Given the description of an element on the screen output the (x, y) to click on. 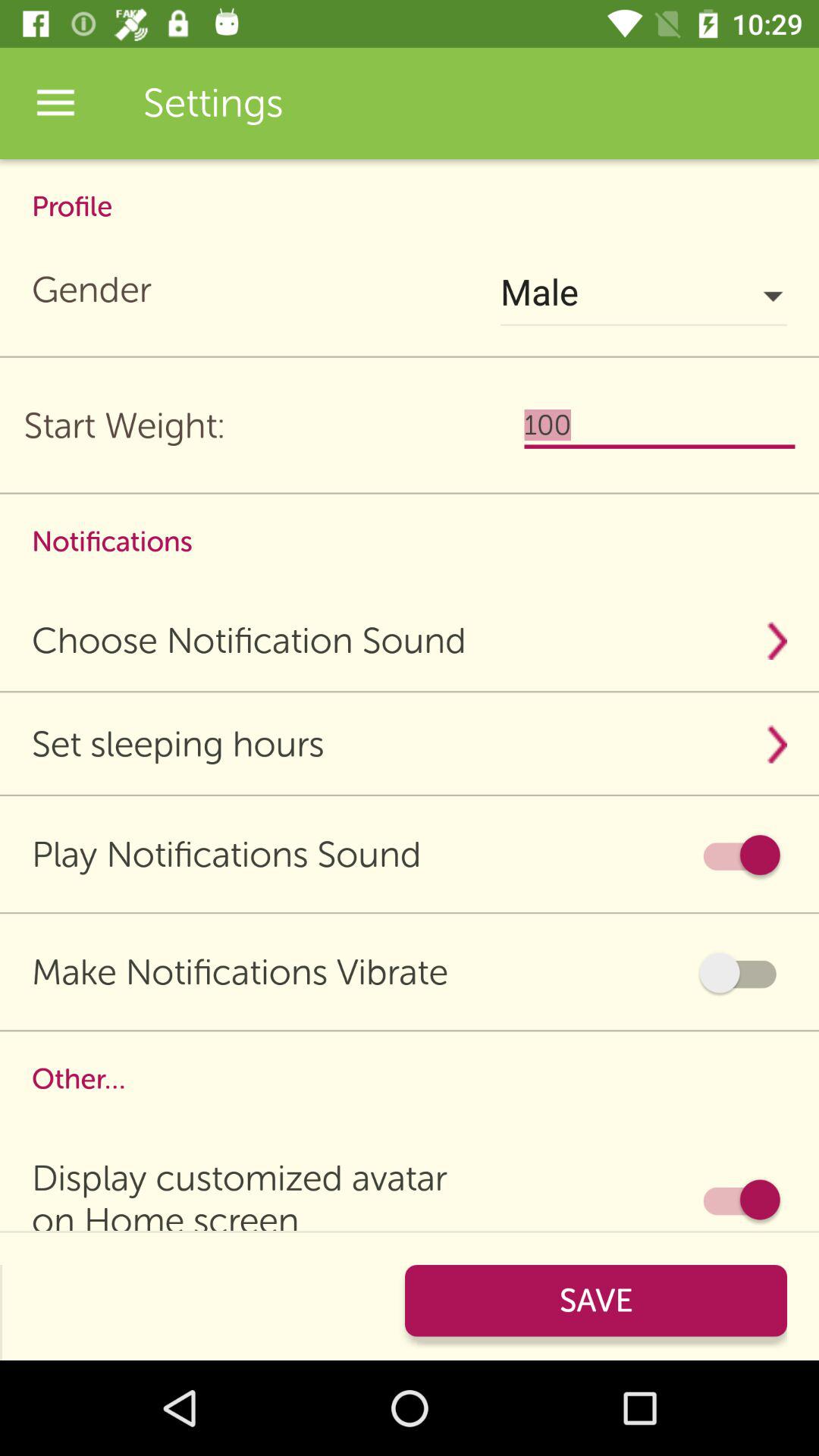
tap the item above the notifications icon (659, 425)
